Given the description of an element on the screen output the (x, y) to click on. 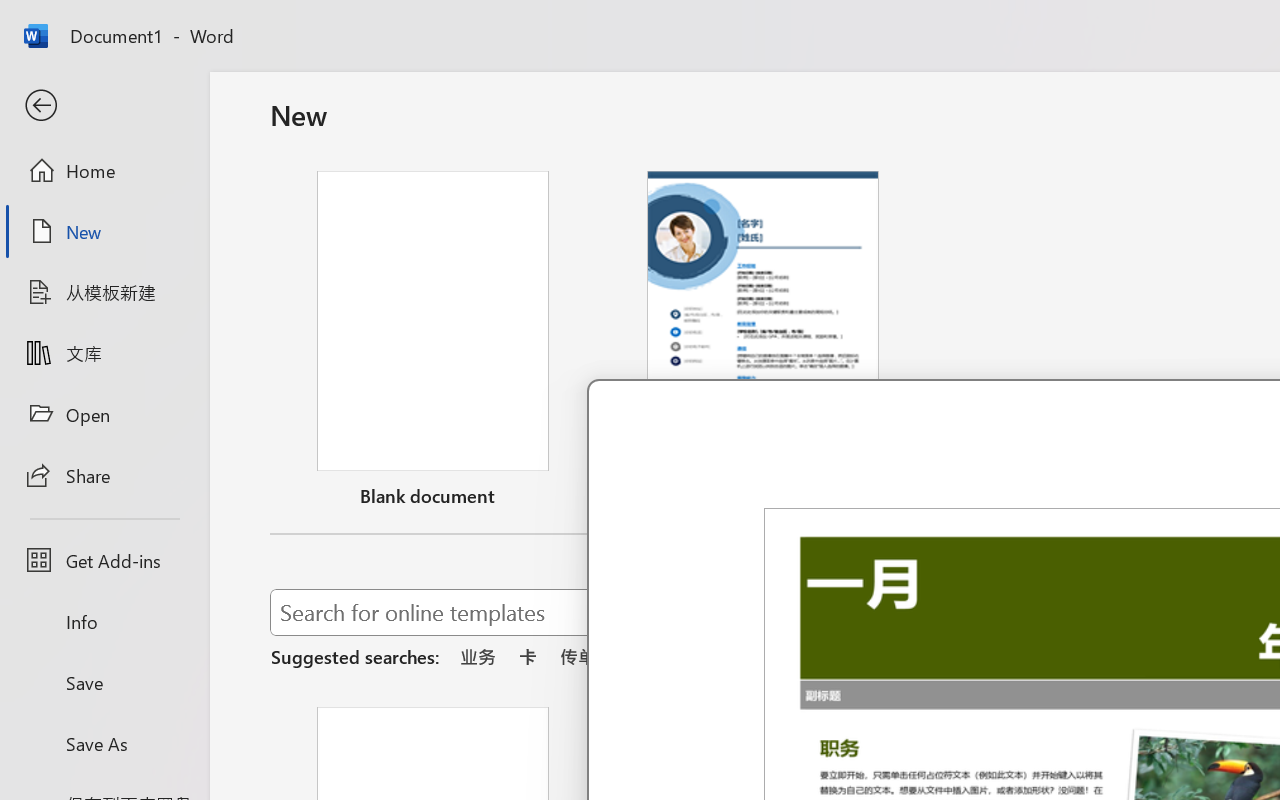
Start searching (1178, 612)
Blank document (433, 343)
Info (104, 621)
Unpin from list (893, 499)
Search for online templates (718, 615)
Back (104, 106)
